Given the description of an element on the screen output the (x, y) to click on. 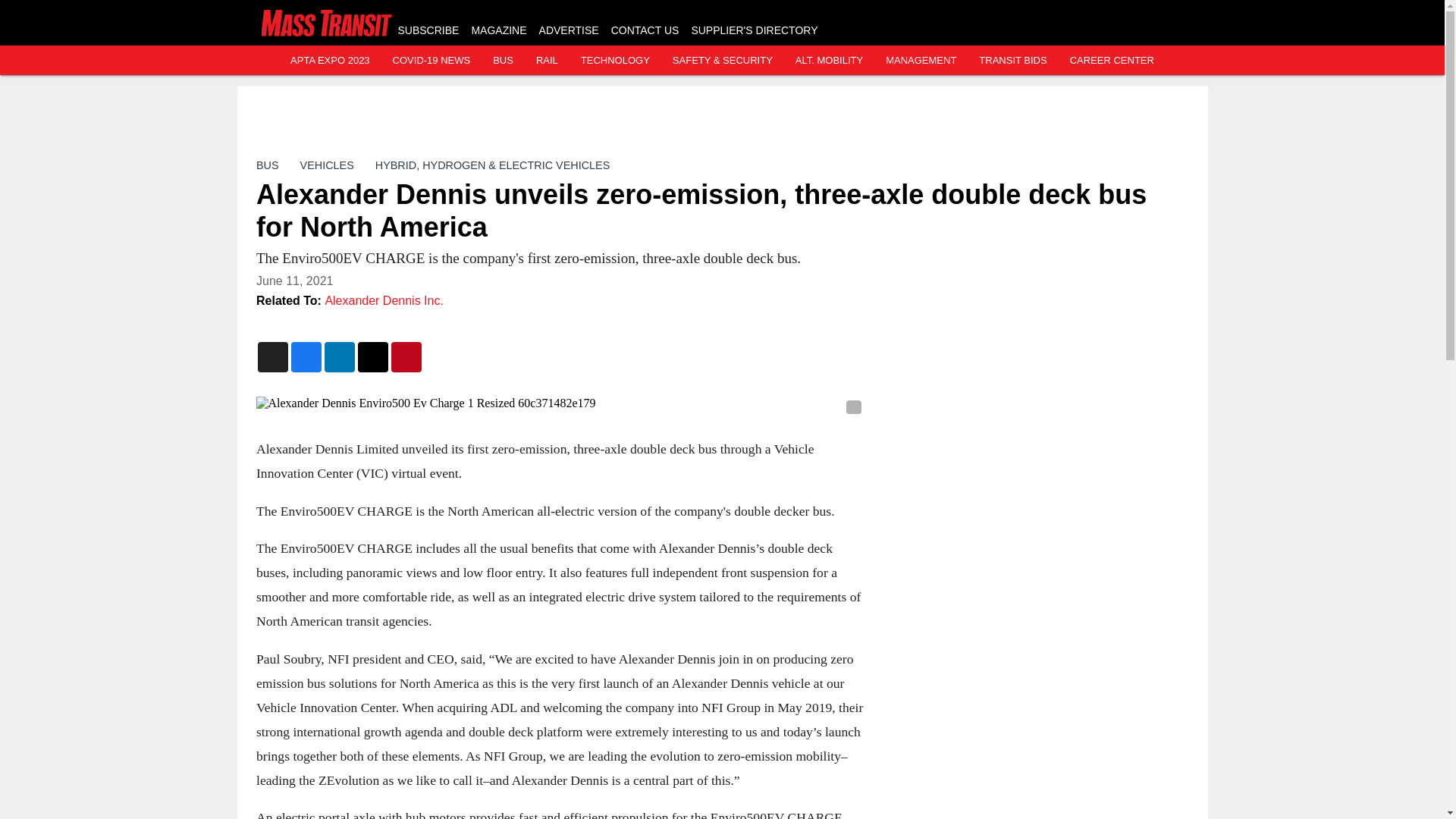
VEHICLES (326, 164)
SUBSCRIBE (427, 30)
BUS (267, 164)
TECHNOLOGY (614, 60)
CONTACT US (645, 30)
Alexander Dennis Enviro500 Ev Charge 1 Resized 60c371482e179 (560, 403)
BUS (503, 60)
TRANSIT BIDS (1012, 60)
MANAGEMENT (920, 60)
ALT. MOBILITY (828, 60)
APTA EXPO 2023 (329, 60)
Alexander Dennis Inc. (384, 300)
CAREER CENTER (1112, 60)
RAIL (546, 60)
SUPPLIER'S DIRECTORY (753, 30)
